Given the description of an element on the screen output the (x, y) to click on. 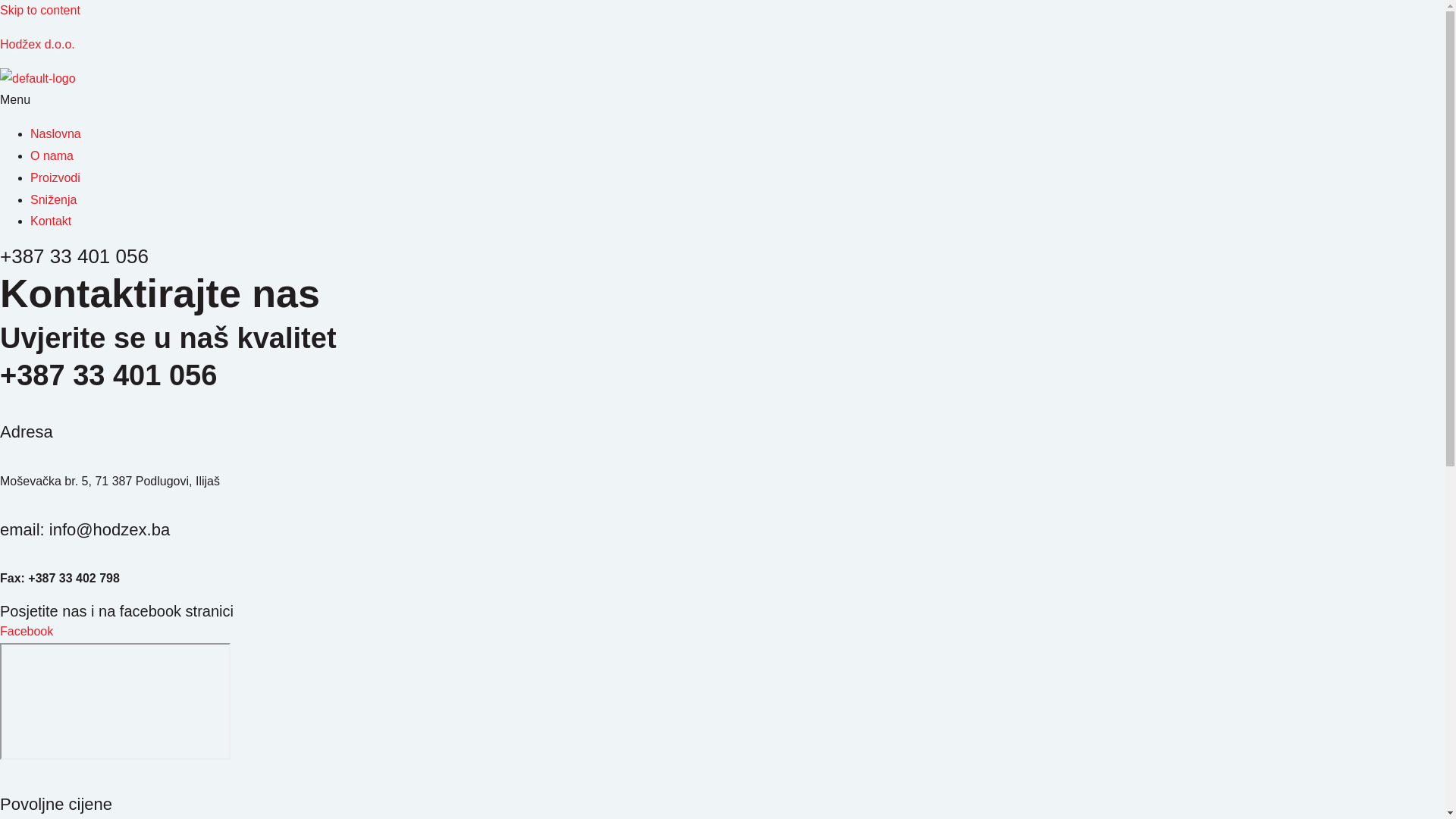
Proizvodi Element type: text (55, 177)
Facebook Element type: text (26, 630)
Naslovna Element type: text (55, 133)
O nama Element type: text (51, 155)
Kontakt Element type: text (50, 220)
Skip to content Element type: text (40, 9)
